Given the description of an element on the screen output the (x, y) to click on. 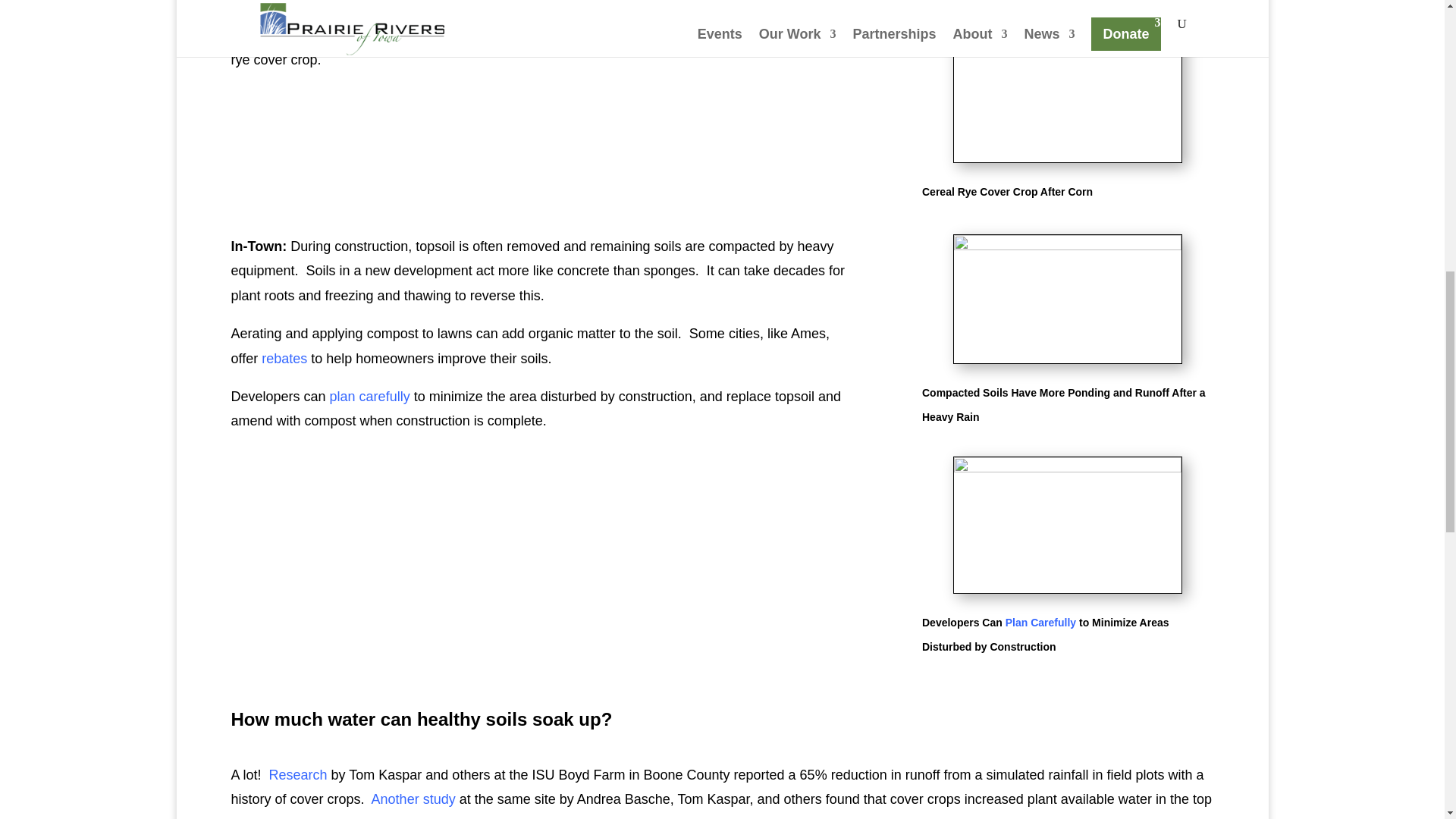
plan carefully (370, 396)
Another study (413, 798)
rebates (284, 358)
compost-amendment-300x179 (1066, 524)
urbanrunoff-300x169 (1066, 299)
Plan Carefully (1040, 622)
Research (298, 774)
